Given the description of an element on the screen output the (x, y) to click on. 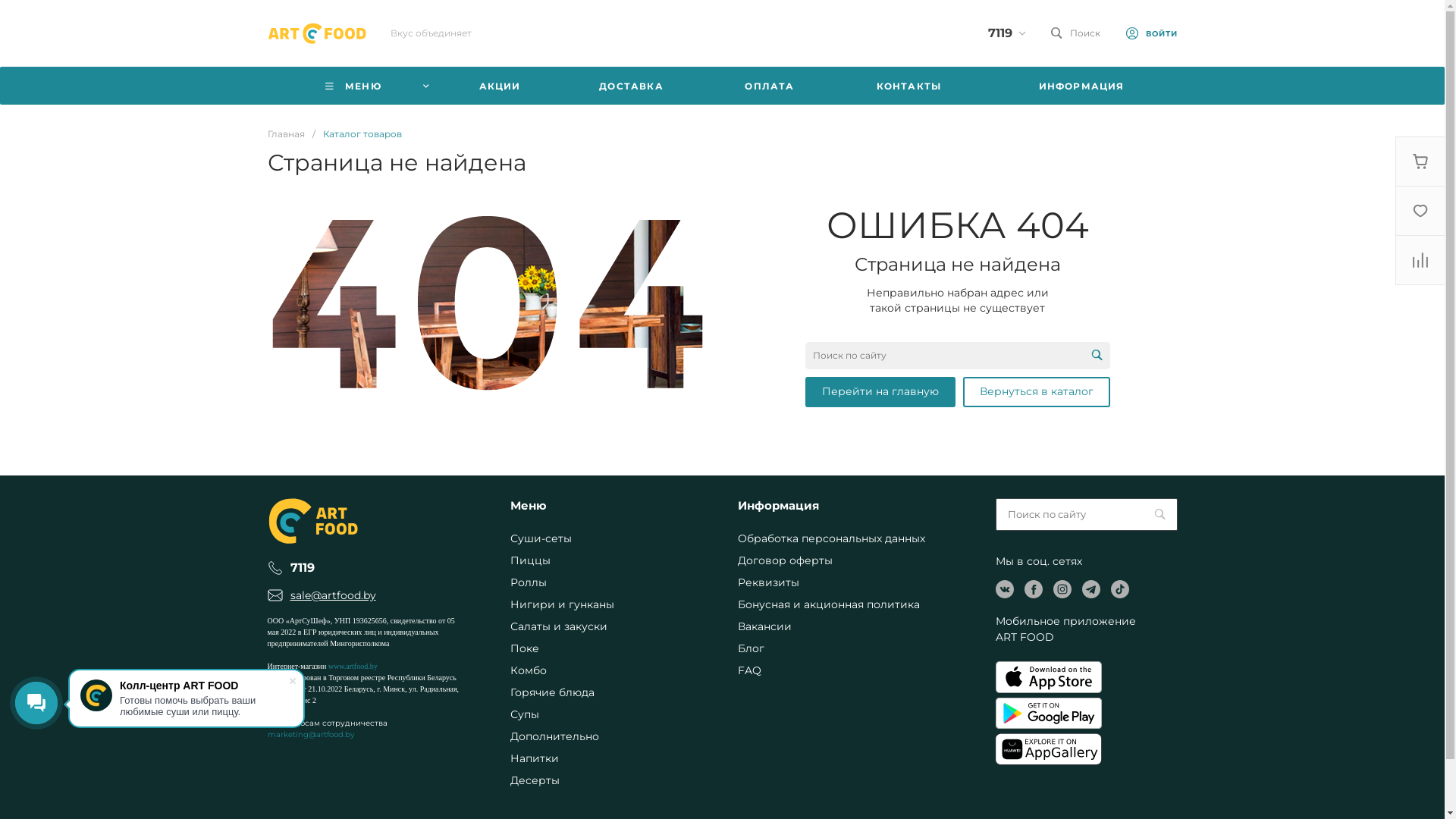
marketing@artfood.by Element type: text (309, 734)
www.artfood.by Element type: text (352, 666)
7119 Element type: text (301, 567)
FAQ Element type: text (748, 670)
7119 Element type: text (999, 33)
sale@artfood.by Element type: text (332, 595)
